Given the description of an element on the screen output the (x, y) to click on. 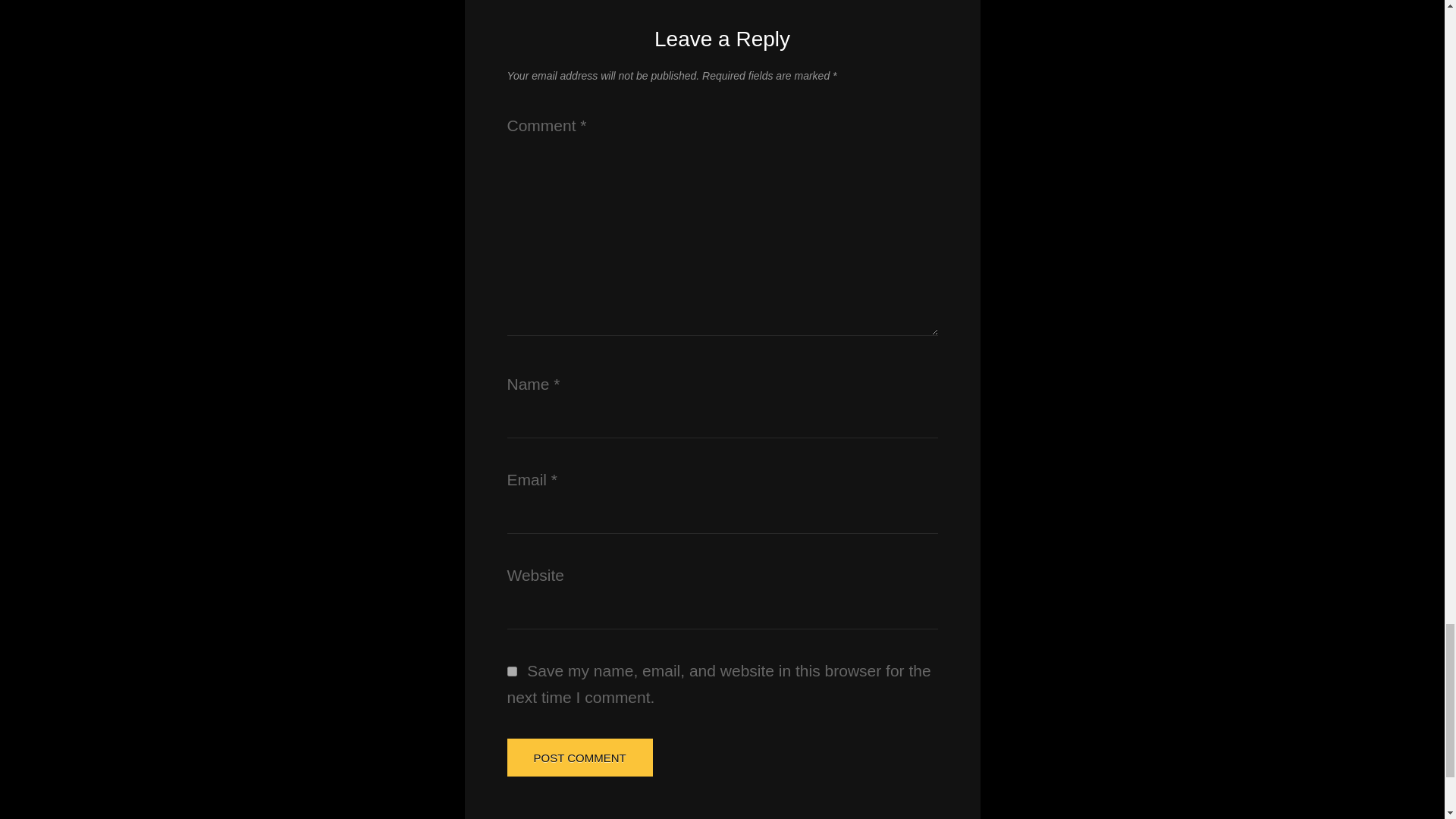
yes (511, 671)
Post Comment (579, 757)
Post Comment (579, 757)
